Given the description of an element on the screen output the (x, y) to click on. 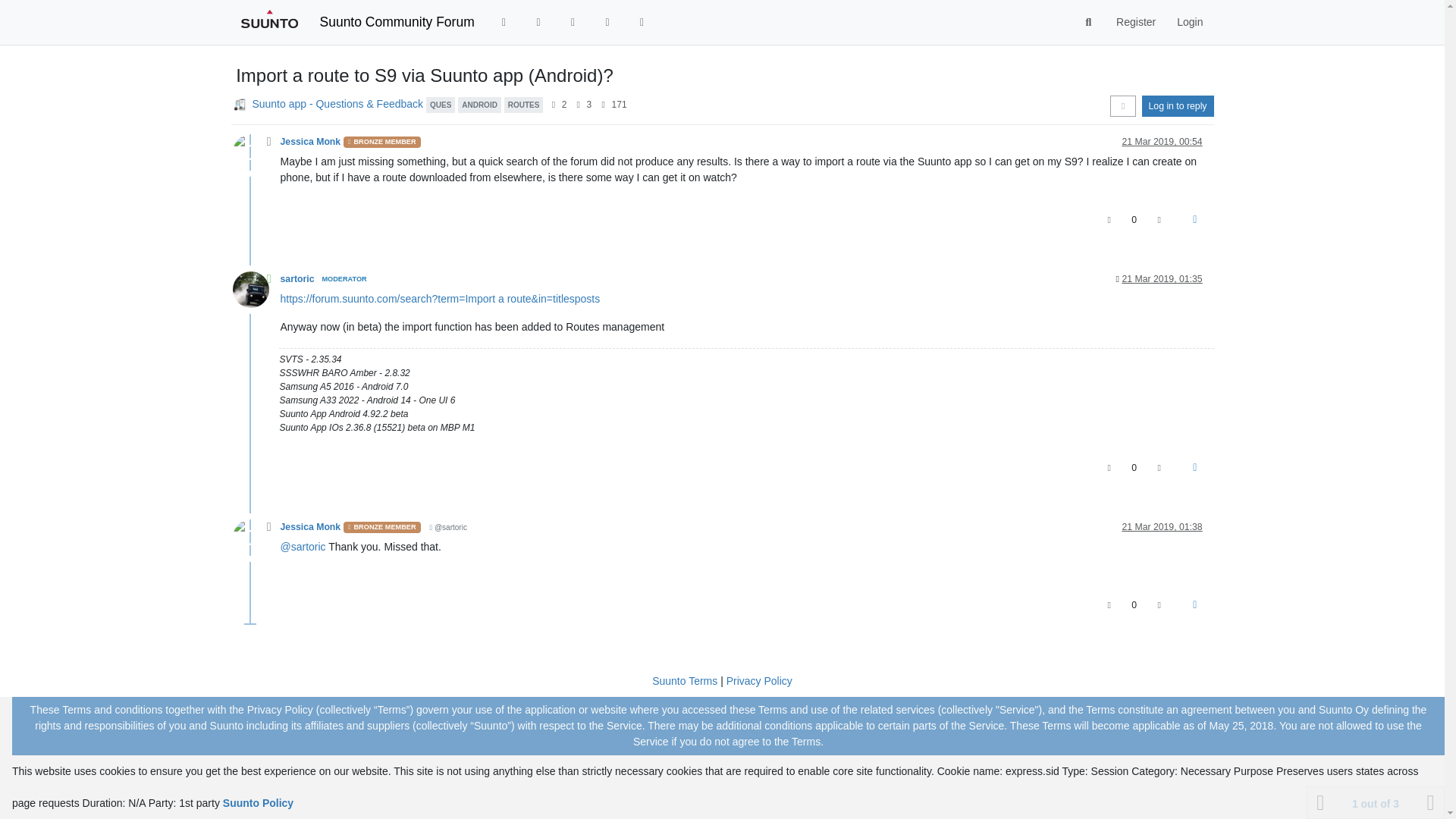
Login (1189, 22)
ANDROID (479, 103)
Tags (538, 22)
Jessica Monk (310, 141)
Groups (641, 22)
ROUTES (523, 103)
QUES (440, 103)
BRONZE MEMBER (381, 142)
Popular (573, 22)
Log in to reply (1177, 106)
Recent (503, 22)
21 Mar 2019, 00:54 (1161, 141)
Suunto Community Forum (397, 22)
Search (1088, 22)
Register (1135, 22)
